Given the description of an element on the screen output the (x, y) to click on. 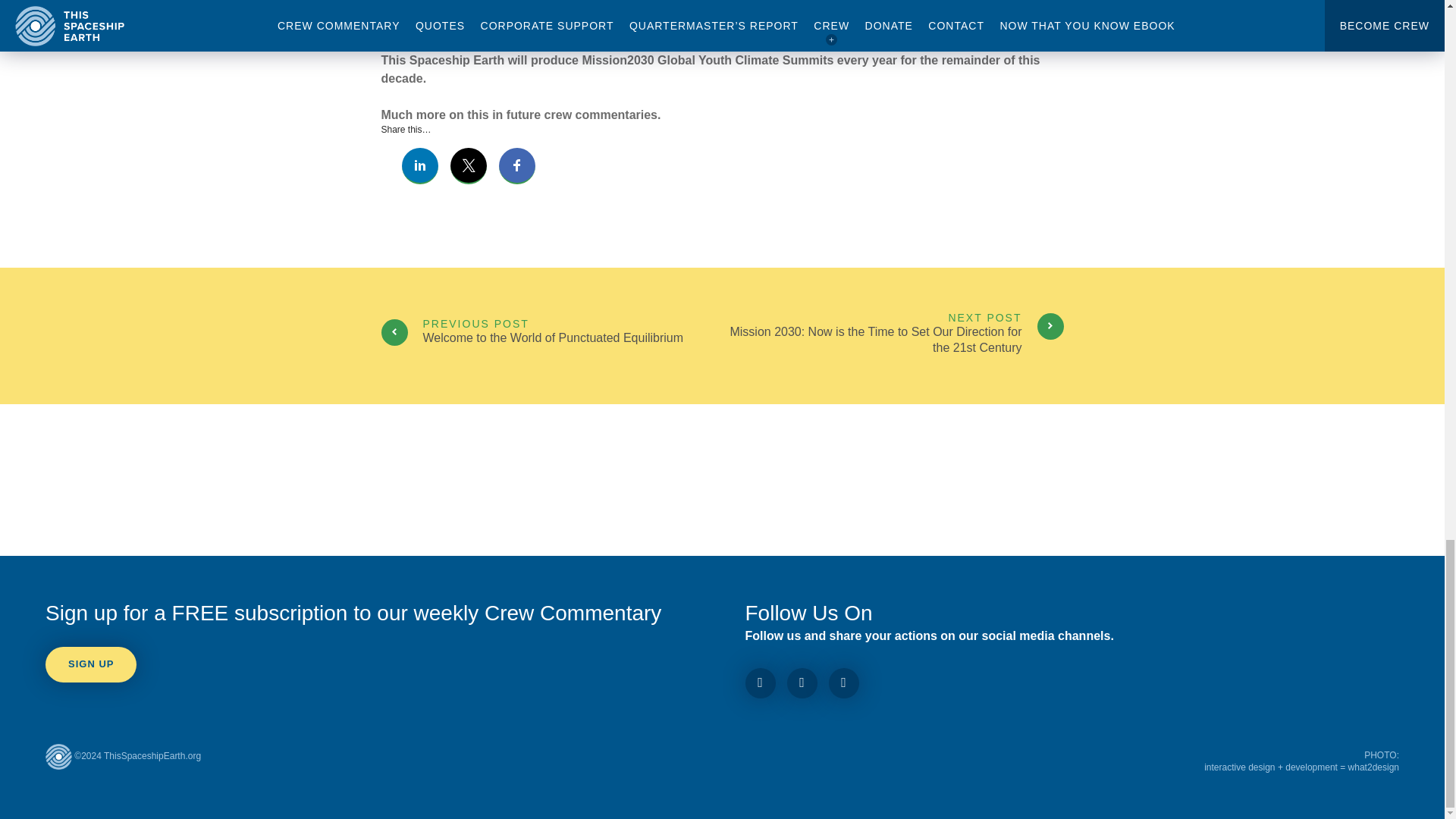
SIGN UP (551, 335)
